Given the description of an element on the screen output the (x, y) to click on. 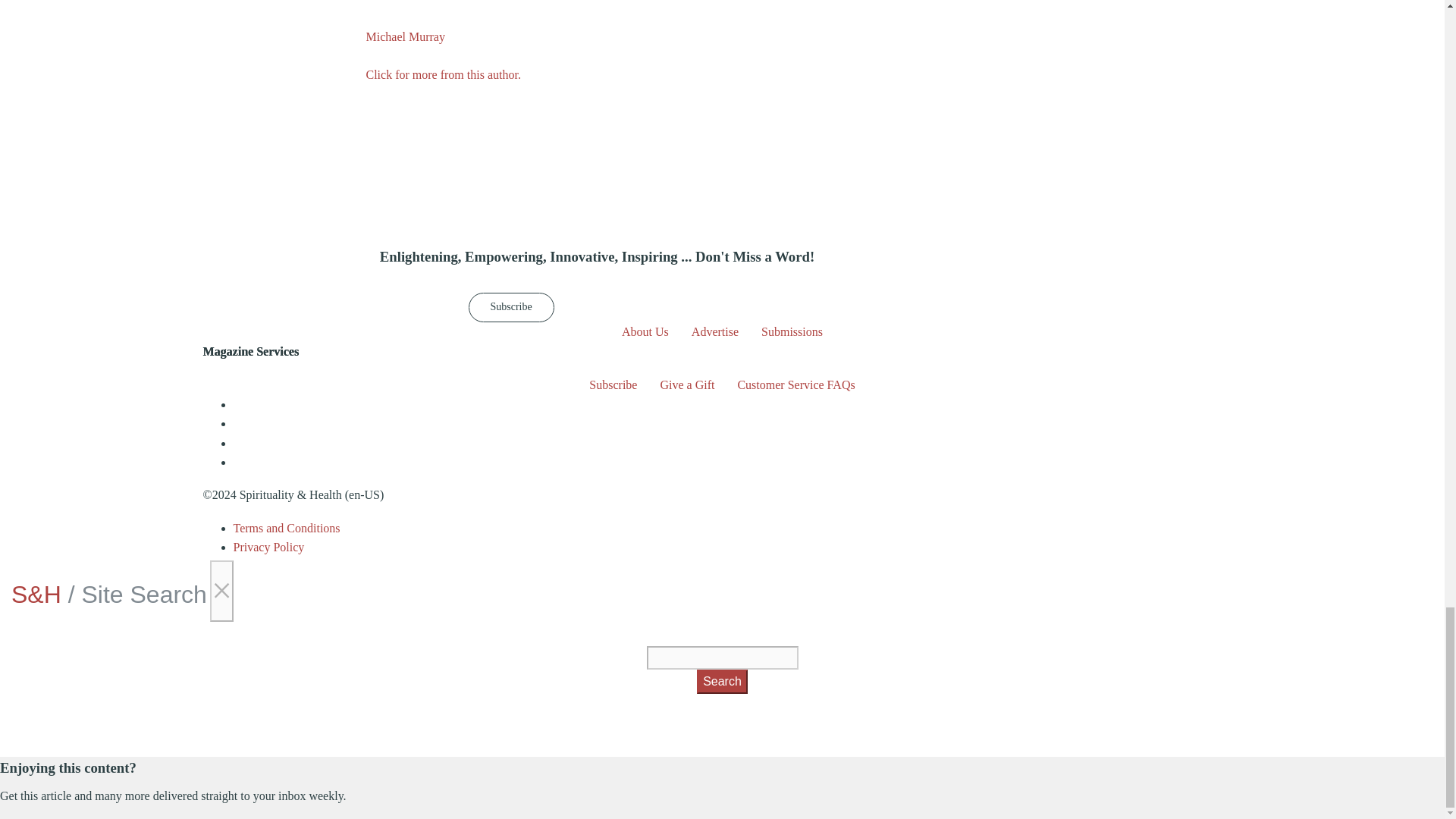
Search (722, 681)
